Given the description of an element on the screen output the (x, y) to click on. 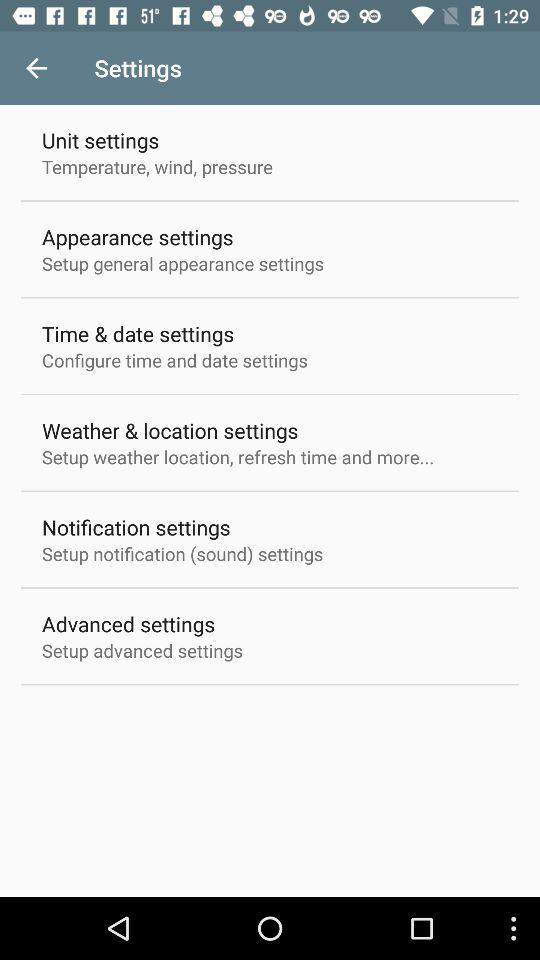
tap the icon above unit settings (36, 68)
